Given the description of an element on the screen output the (x, y) to click on. 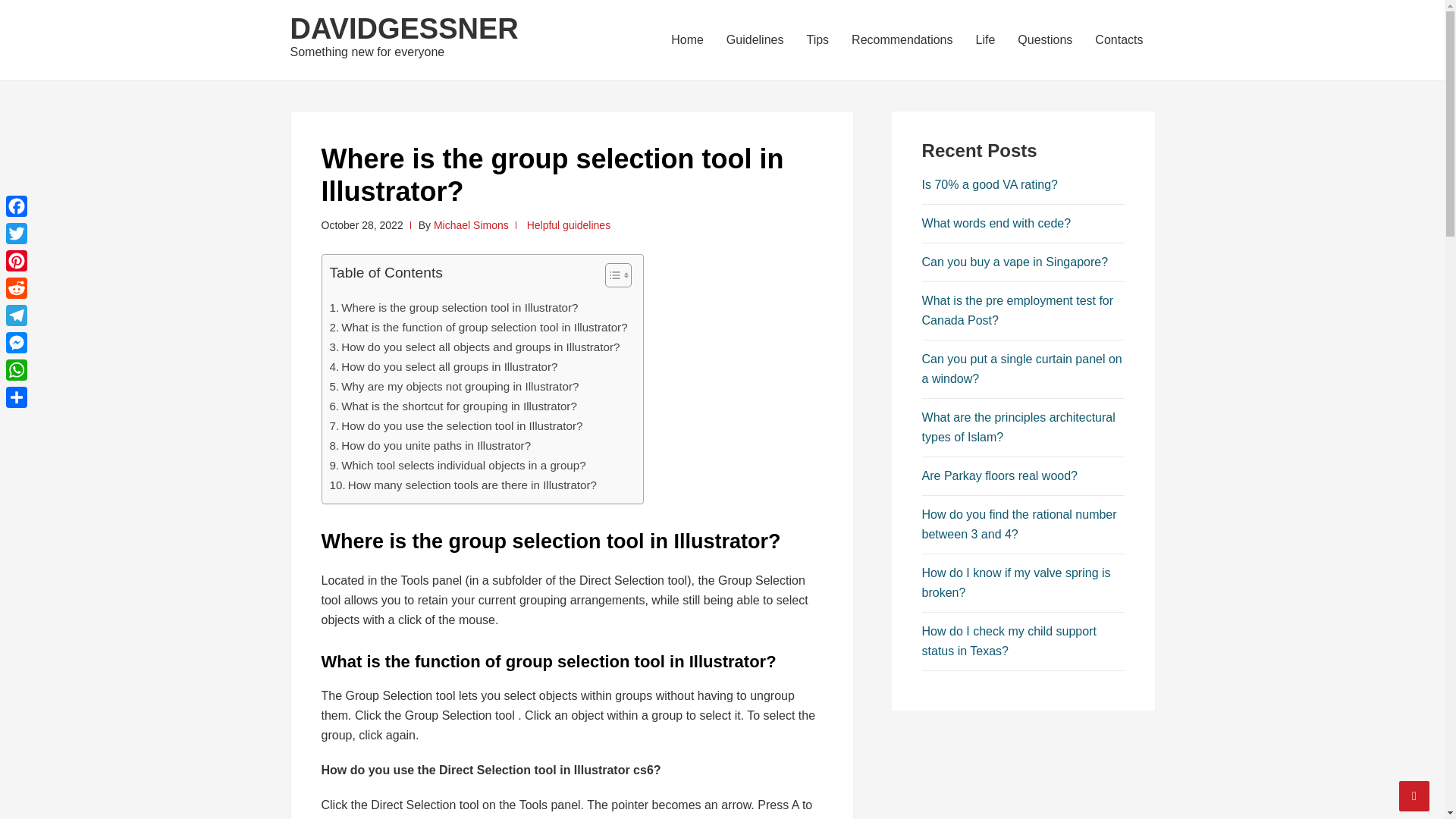
How do you unite paths in Illustrator? (430, 445)
How do you select all objects and groups in Illustrator? (474, 347)
View all posts by Michael Simons (470, 224)
What is the pre employment test for Canada Post? (1017, 310)
Are Parkay floors real wood? (999, 475)
How many selection tools are there in Illustrator? (462, 484)
How do you use the selection tool in Illustrator? (455, 425)
What is the function of group selection tool in Illustrator? (478, 327)
What are the principles architectural types of Islam? (1018, 427)
Why are my objects not grouping in Illustrator? (453, 386)
